Given the description of an element on the screen output the (x, y) to click on. 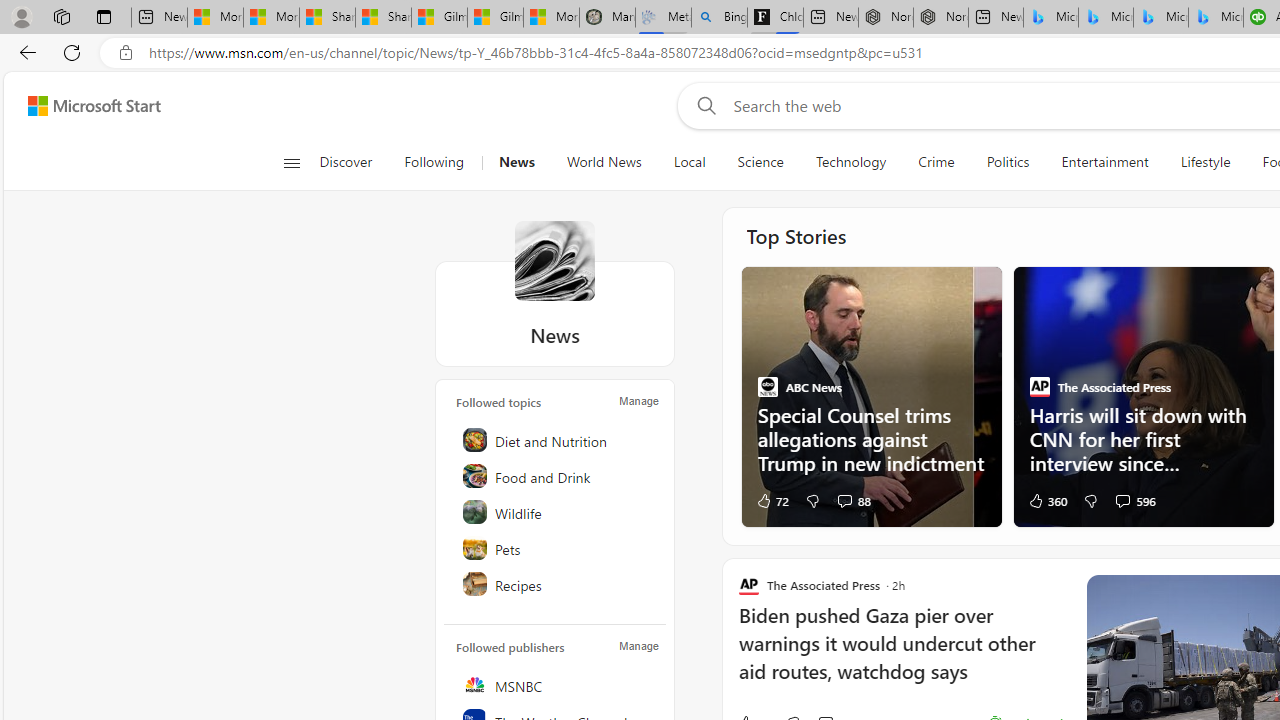
Crime (935, 162)
View comments 596 Comment (1122, 500)
Politics (1007, 162)
Shanghai, China weather forecast | Microsoft Weather (382, 17)
Science (760, 162)
News (516, 162)
Nordace - #1 Japanese Best-Seller - Siena Smart Backpack (940, 17)
Science (760, 162)
Food and Drink (556, 475)
